Given the description of an element on the screen output the (x, y) to click on. 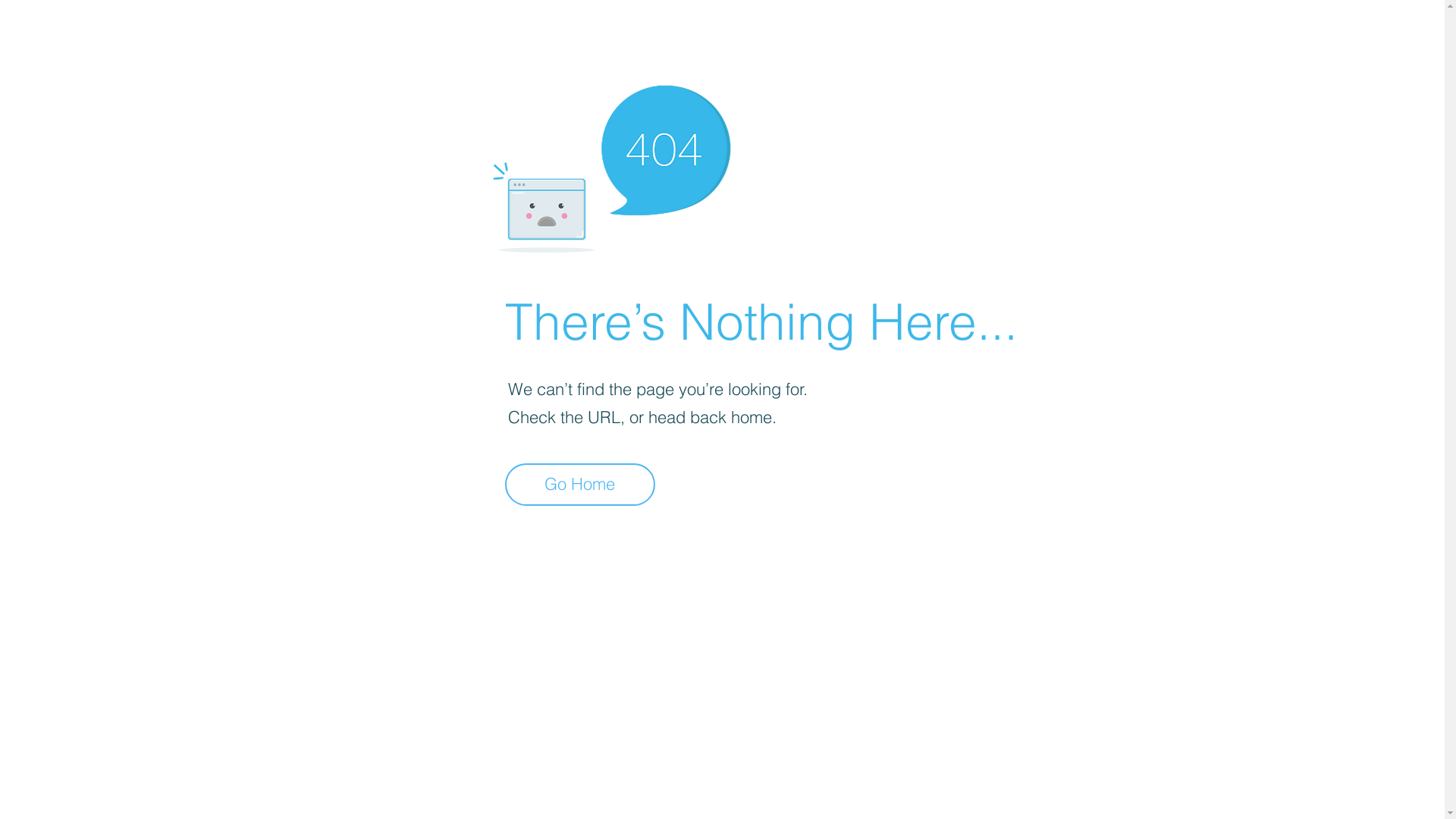
Go Home Element type: text (580, 484)
404-icon_2.png Element type: hover (610, 164)
